Given the description of an element on the screen output the (x, y) to click on. 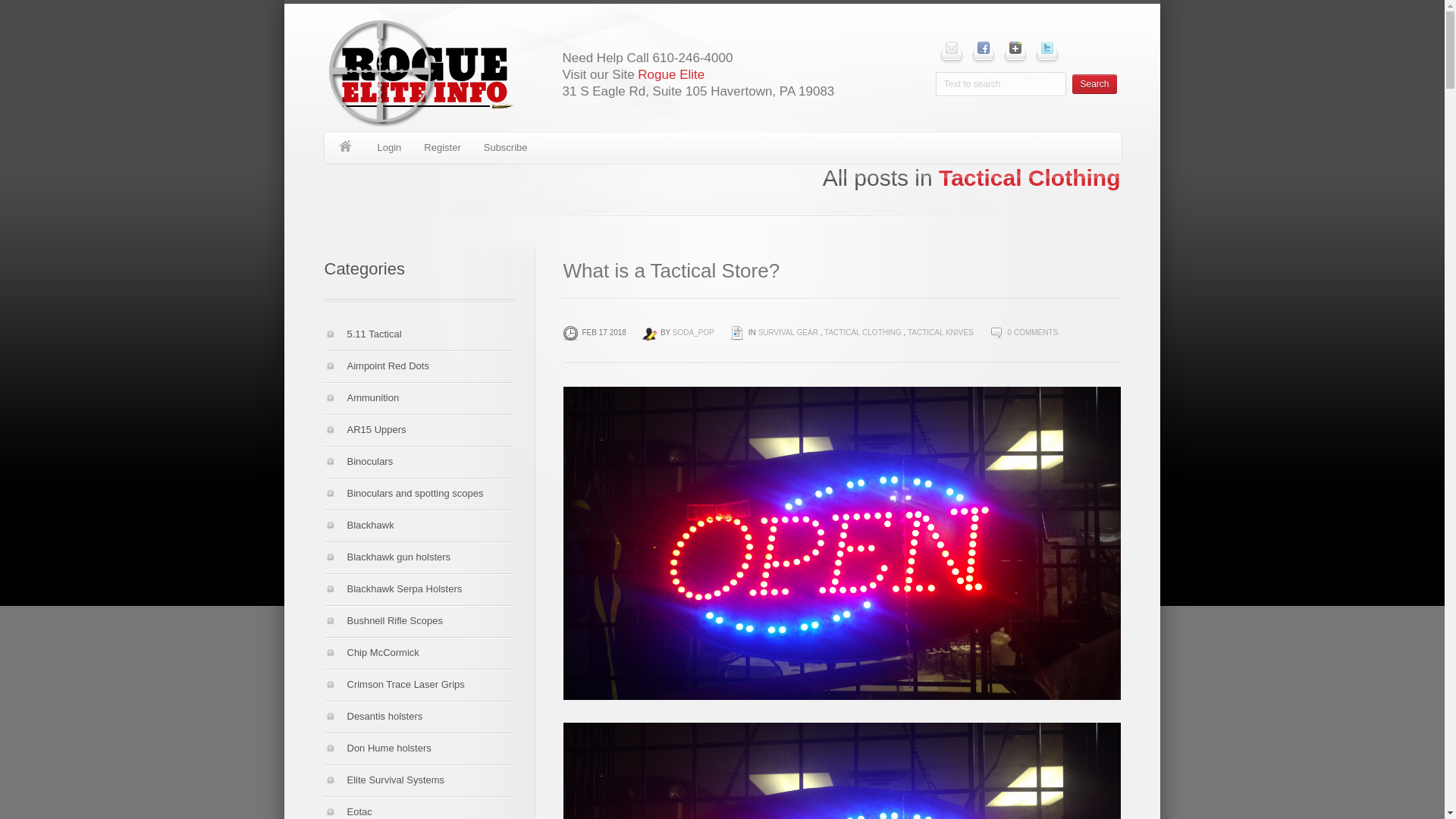
Permanent link to What is a Tactical Store? (670, 270)
Subscribe (504, 147)
Rogue Elite (670, 74)
What is a Tactical Store? (670, 270)
TACTICAL CLOTHING (862, 332)
SURVIVAL GEAR (788, 332)
Search (1093, 84)
Home (345, 147)
Facebook (983, 47)
Register (441, 147)
